Given the description of an element on the screen output the (x, y) to click on. 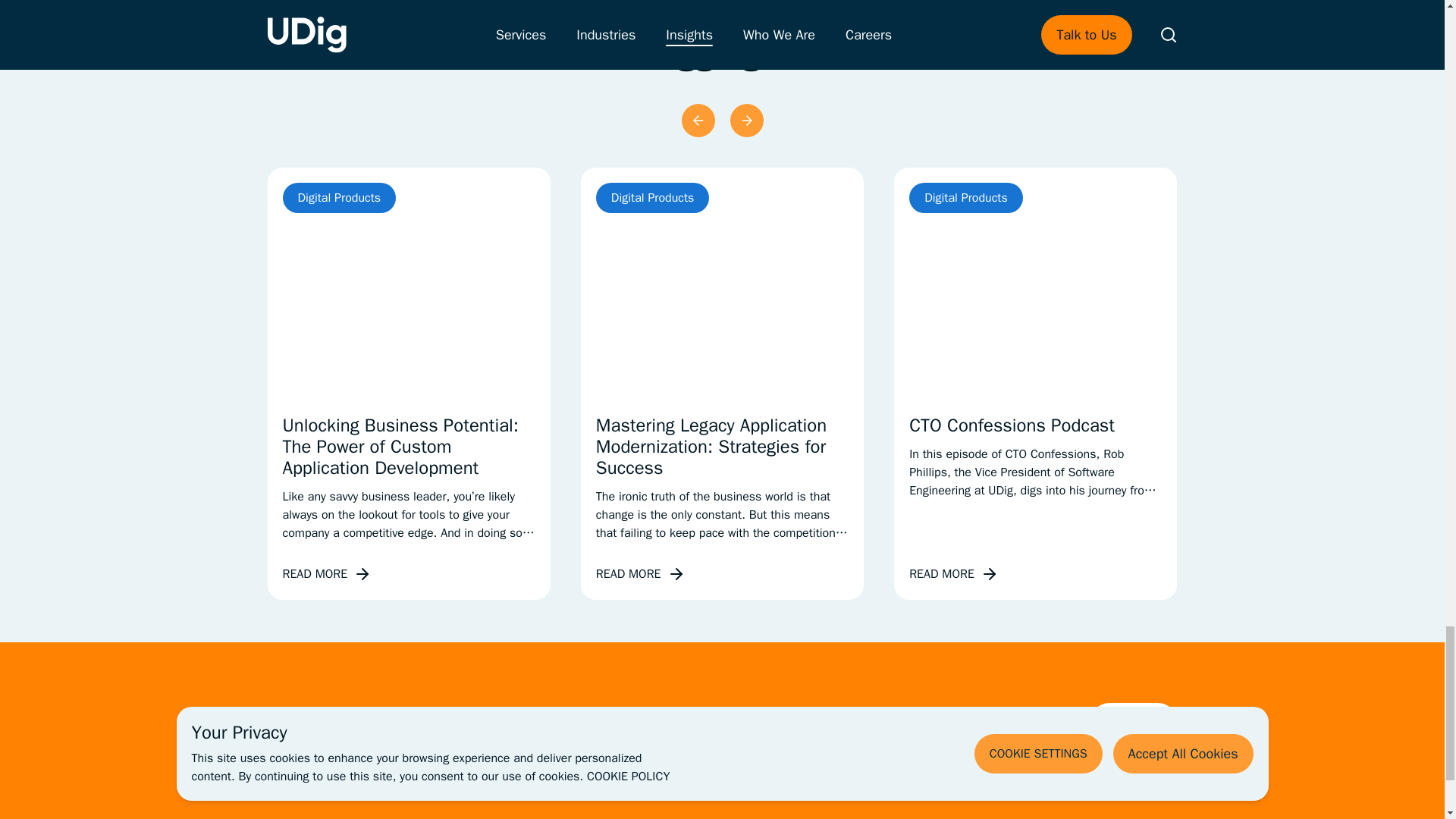
READ MORE (953, 573)
READ MORE (326, 573)
Digital Products (339, 197)
Digital Products (965, 197)
Digital Products (652, 197)
READ MORE (640, 573)
